Given the description of an element on the screen output the (x, y) to click on. 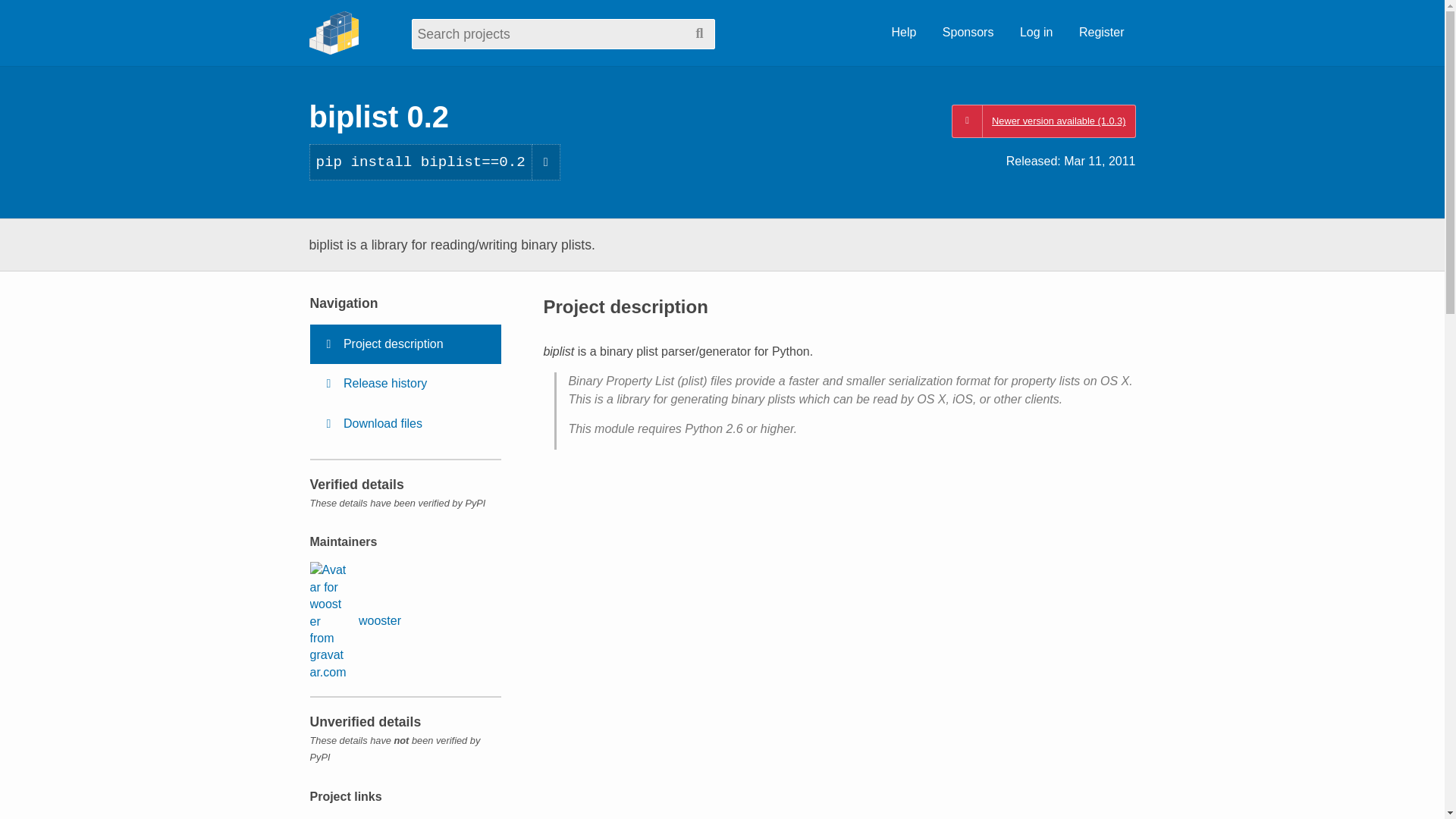
Register (1101, 32)
Search (699, 33)
Download files (404, 423)
wooster (354, 620)
Release history (404, 383)
Sponsors (968, 32)
Help (903, 32)
Copy PIP instructions (546, 162)
Avatar for wooster from gravatar.com (327, 620)
Log in (1036, 32)
Project description (404, 343)
